Given the description of an element on the screen output the (x, y) to click on. 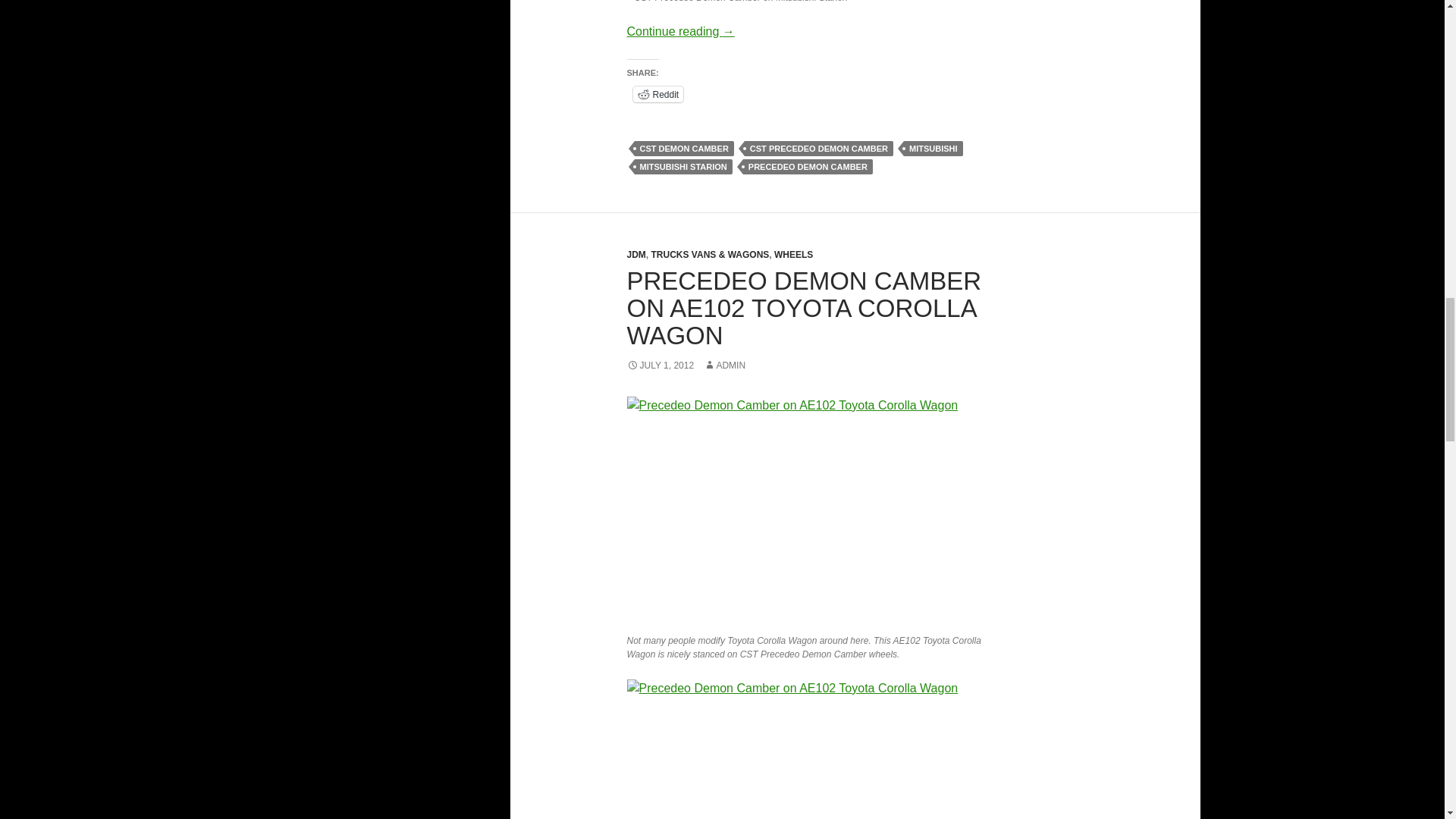
ADMIN (724, 365)
MITSUBISHI STARION (682, 166)
JDM (635, 254)
PRECEDEO DEMON CAMBER (807, 166)
WHEELS (793, 254)
Reddit (656, 94)
CST DEMON CAMBER (683, 148)
Click to share on Reddit (656, 94)
PRECEDEO DEMON CAMBER ON AE102 TOYOTA COROLLA WAGON (803, 307)
JULY 1, 2012 (660, 365)
